Given the description of an element on the screen output the (x, y) to click on. 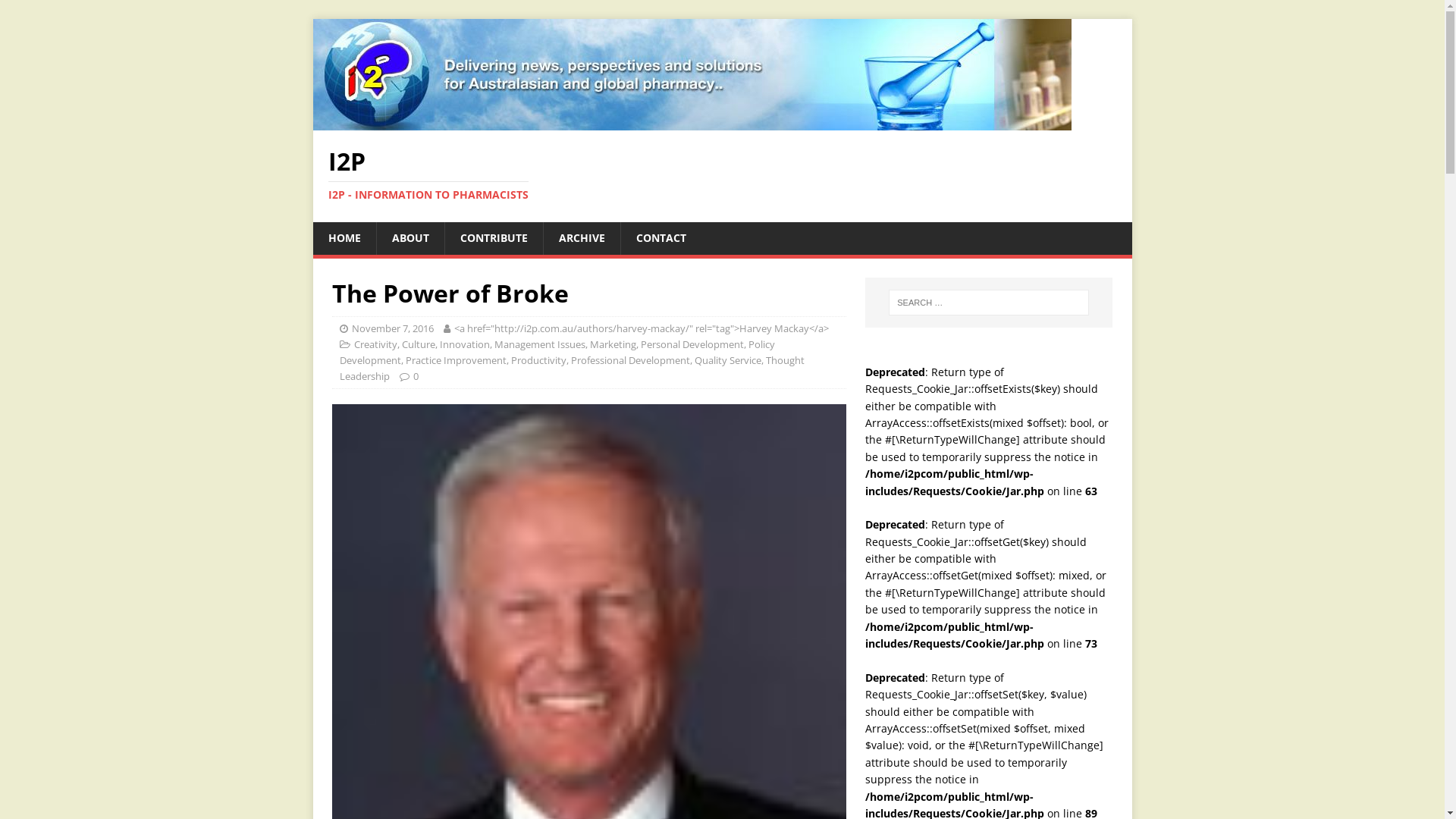
Thought Leadership Element type: text (571, 367)
Innovation Element type: text (464, 344)
Marketing Element type: text (612, 344)
ABOUT Element type: text (410, 238)
ARCHIVE Element type: text (581, 238)
Practice Improvement Element type: text (454, 360)
Personal Development Element type: text (691, 344)
HOME Element type: text (343, 238)
I2P
I2P - INFORMATION TO PHARMACISTS Element type: text (721, 175)
CONTACT Element type: text (660, 238)
Management Issues Element type: text (539, 344)
Productivity Element type: text (538, 360)
Creativity Element type: text (374, 344)
I2P Element type: hover (691, 121)
Culture Element type: text (418, 344)
0 Element type: text (414, 375)
Search Element type: text (56, 11)
Policy Development Element type: text (557, 352)
CONTRIBUTE Element type: text (493, 238)
Quality Service Element type: text (727, 360)
Professional Development Element type: text (629, 360)
November 7, 2016 Element type: text (392, 328)
